Given the description of an element on the screen output the (x, y) to click on. 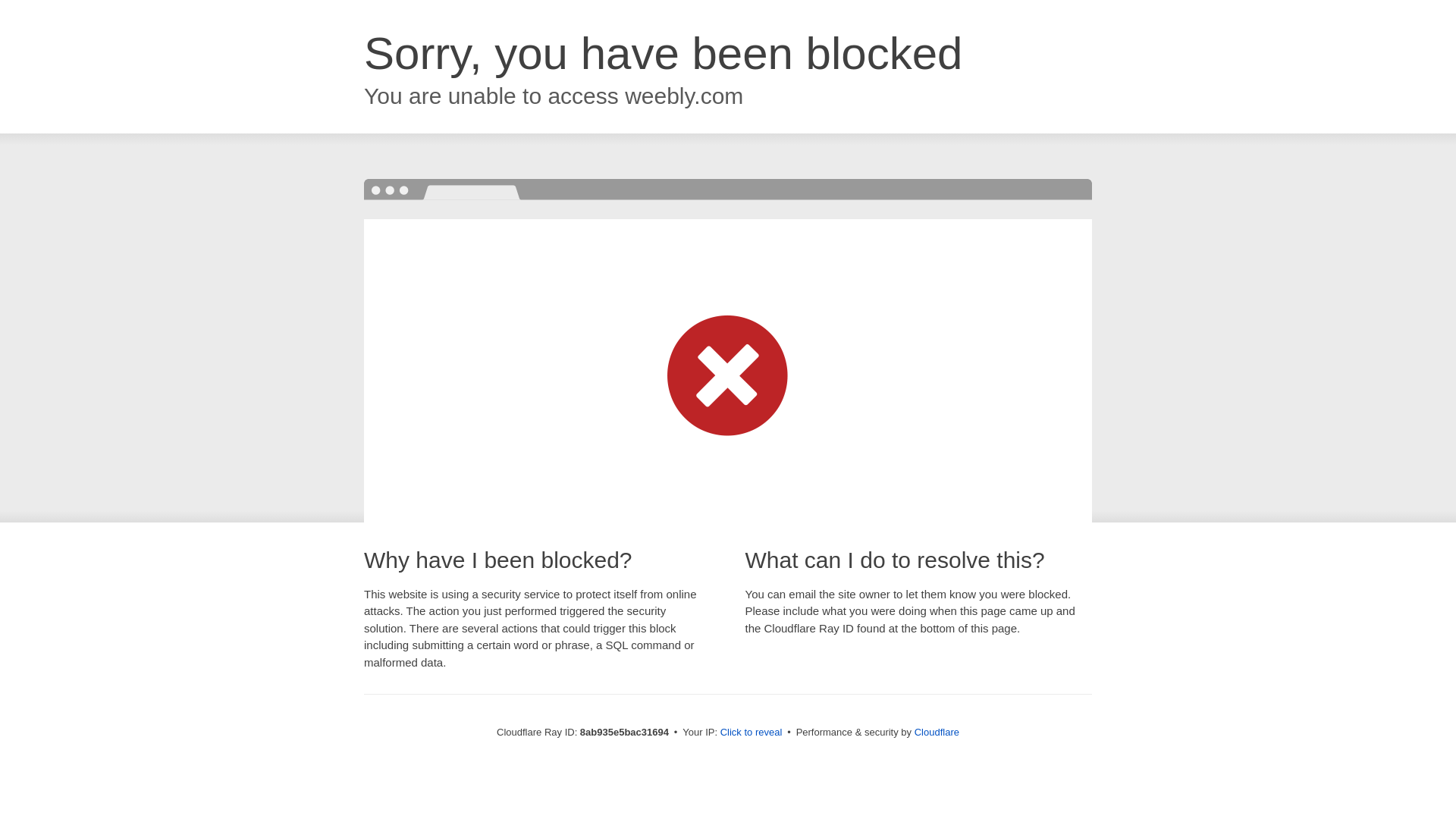
Click to reveal (751, 732)
Cloudflare (936, 731)
